Given the description of an element on the screen output the (x, y) to click on. 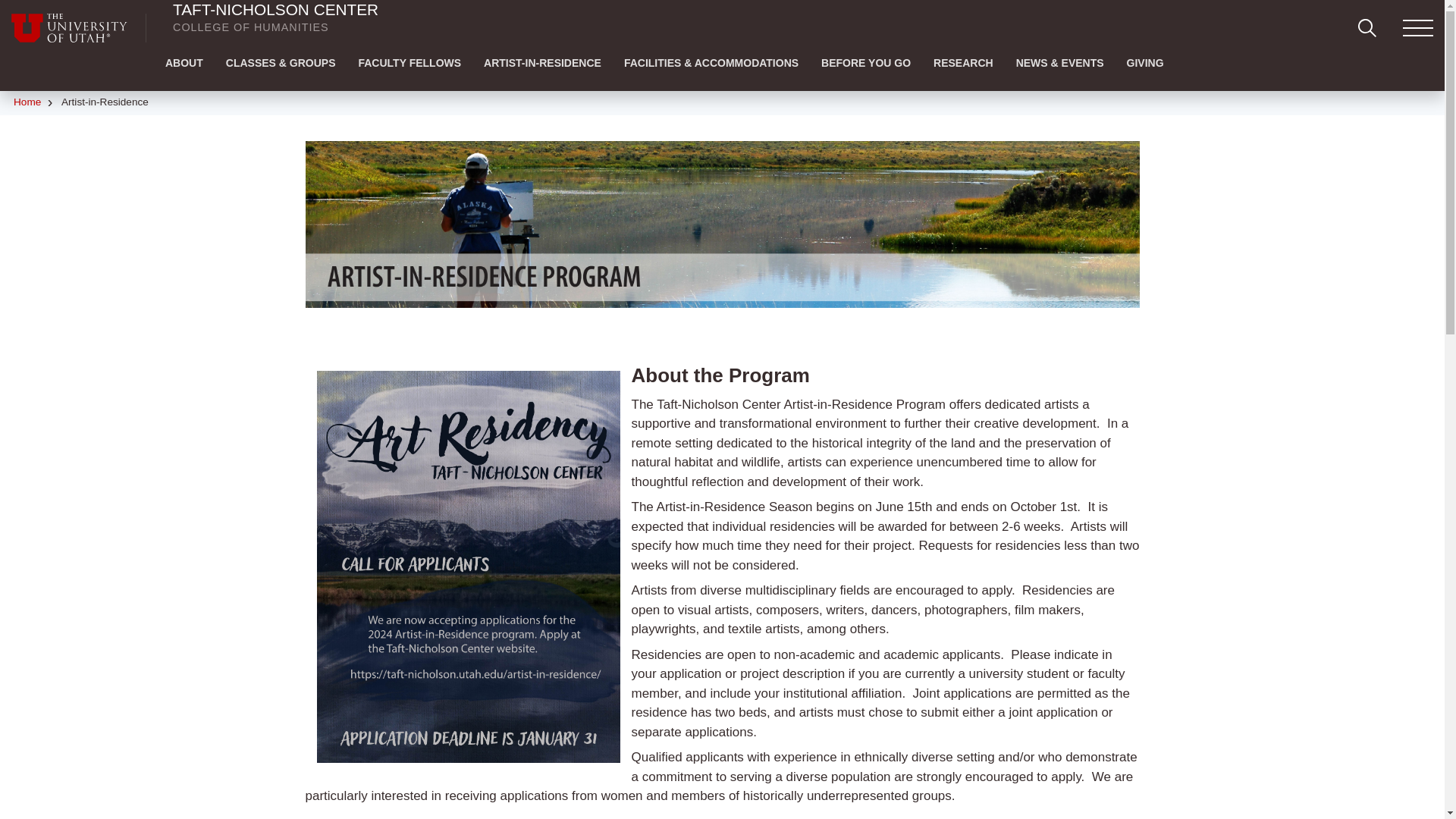
COLLEGE OF HUMANITIES (251, 27)
FACULTY FELLOWS (408, 62)
TAFT-NICHOLSON CENTER (275, 9)
BEFORE YOU GO (865, 62)
ABOUT (184, 62)
RESEARCH (962, 62)
ARTIST-IN-RESIDENCE (541, 62)
